Given the description of an element on the screen output the (x, y) to click on. 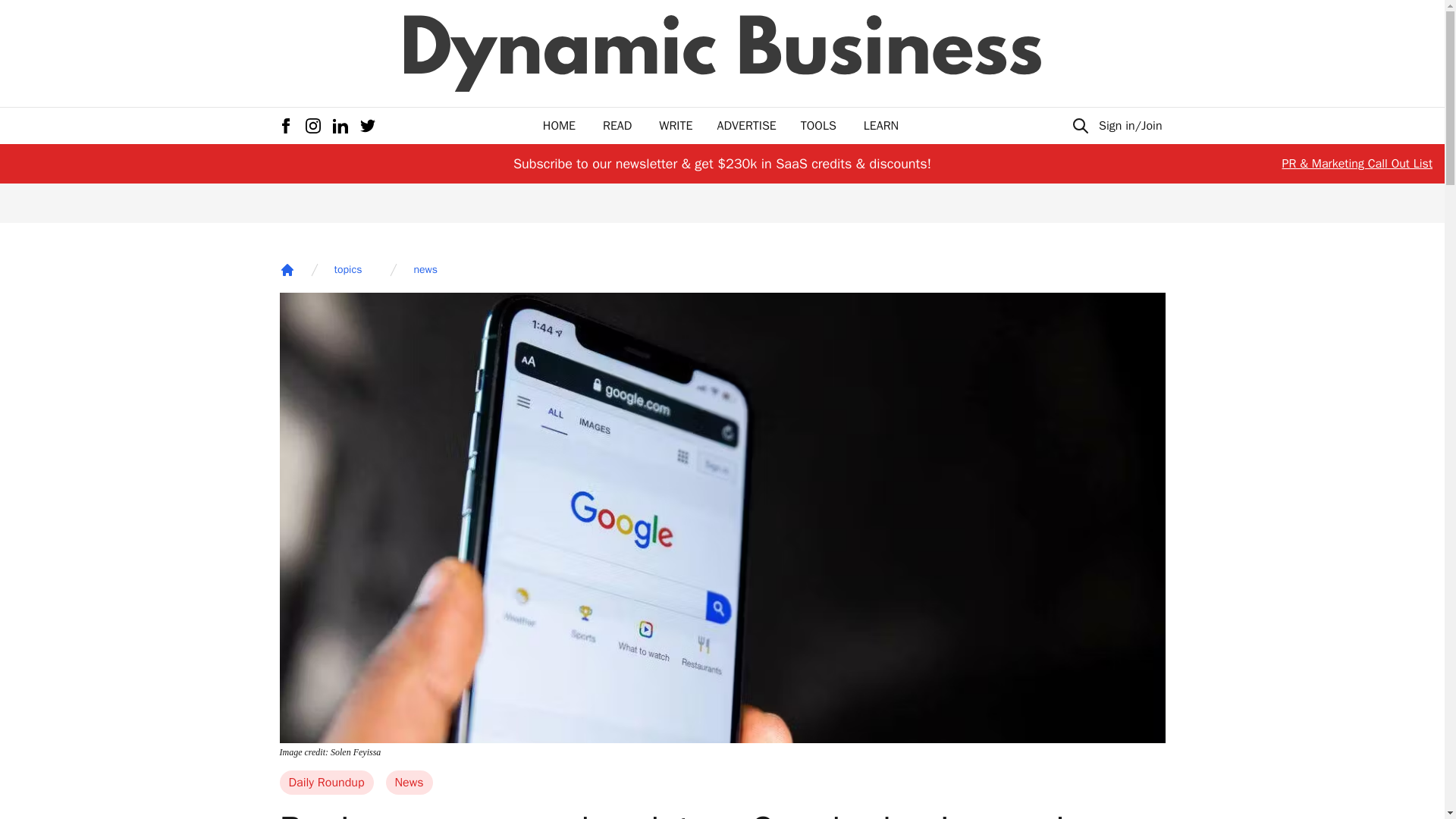
TOOLS (817, 126)
Daily Roundup (325, 782)
News (408, 782)
HOME (559, 126)
news (425, 269)
Home (286, 269)
LEARN (880, 126)
WRITE (676, 126)
ADVERTISE (746, 126)
READ (616, 126)
